Given the description of an element on the screen output the (x, y) to click on. 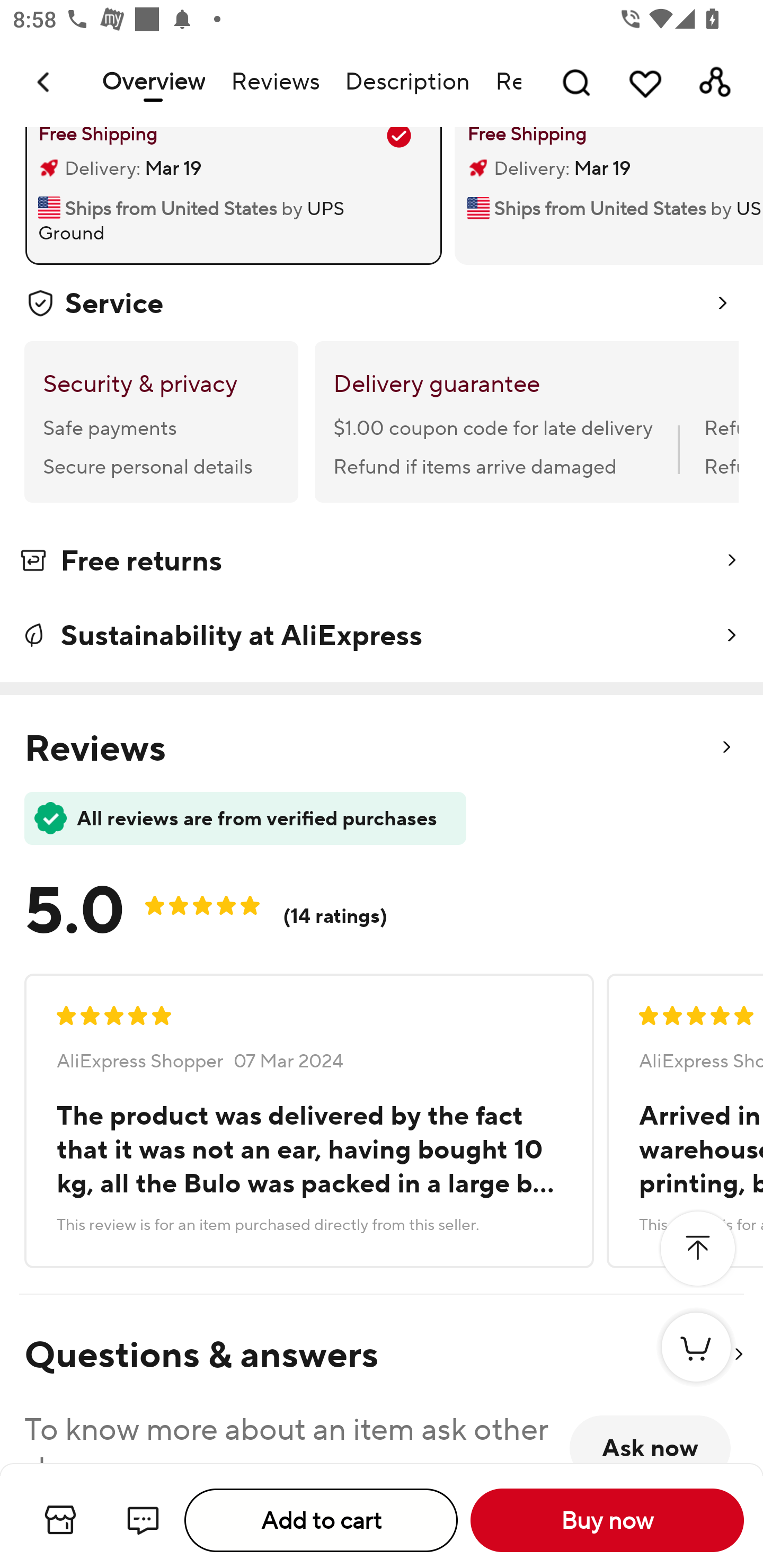
Navigate up (44, 82)
Reviews (274, 81)
Description (406, 81)
Recommendations (501, 81)
Free returns  (381, 563)
Sustainability at AliExpress  (381, 635)
5.0 50.0 (14 ratings) (219, 903)
 (697, 1248)
Ask now (649, 1438)
Add to cart (320, 1520)
Buy now (606, 1520)
